Given the description of an element on the screen output the (x, y) to click on. 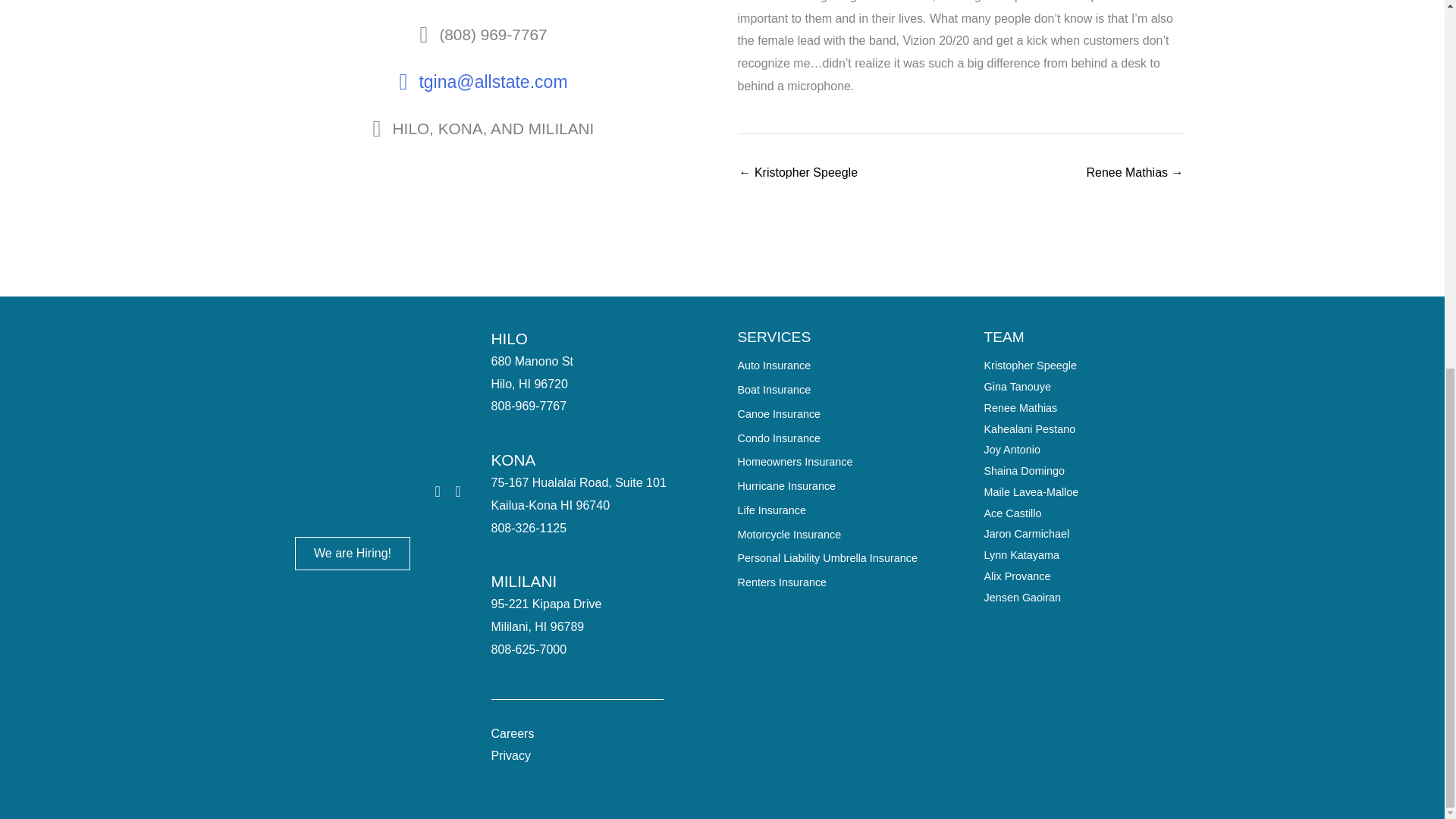
Condo Insurance (778, 438)
Boat Insurance (773, 389)
Homeowners Insurance (793, 461)
Hurricane Insurance (785, 485)
Auto Insurance (773, 365)
Life Insurance (770, 510)
Canoe Insurance (778, 413)
Personal Liability Umbrella Insurance (826, 558)
Motorcycle Insurance (788, 534)
